Given the description of an element on the screen output the (x, y) to click on. 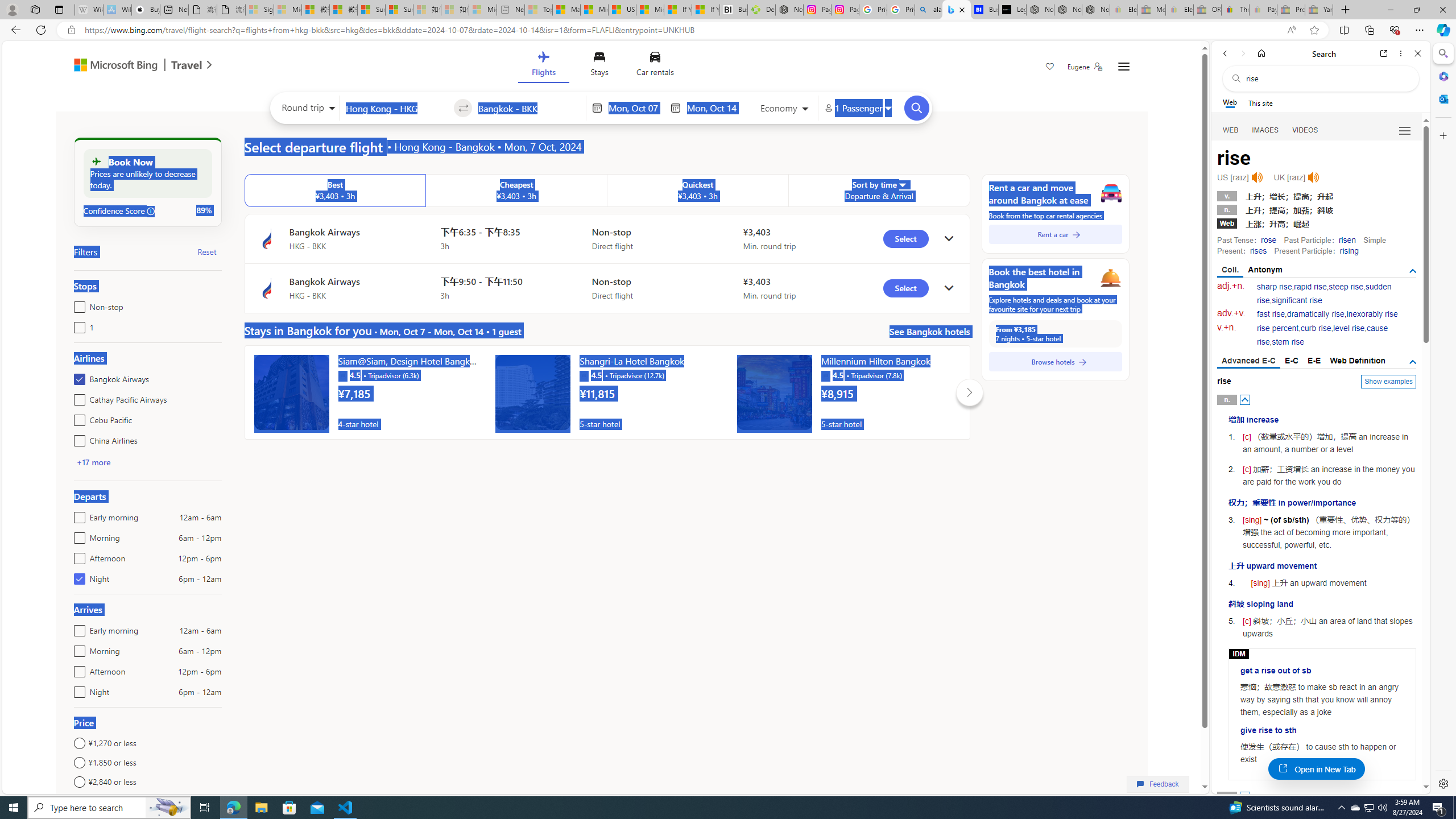
This site scope (1259, 102)
Travel (186, 65)
Bangkok Airways (76, 376)
risen (1347, 239)
Any price (146, 801)
Microsoft Bing (110, 65)
E-C (1291, 360)
